Given the description of an element on the screen output the (x, y) to click on. 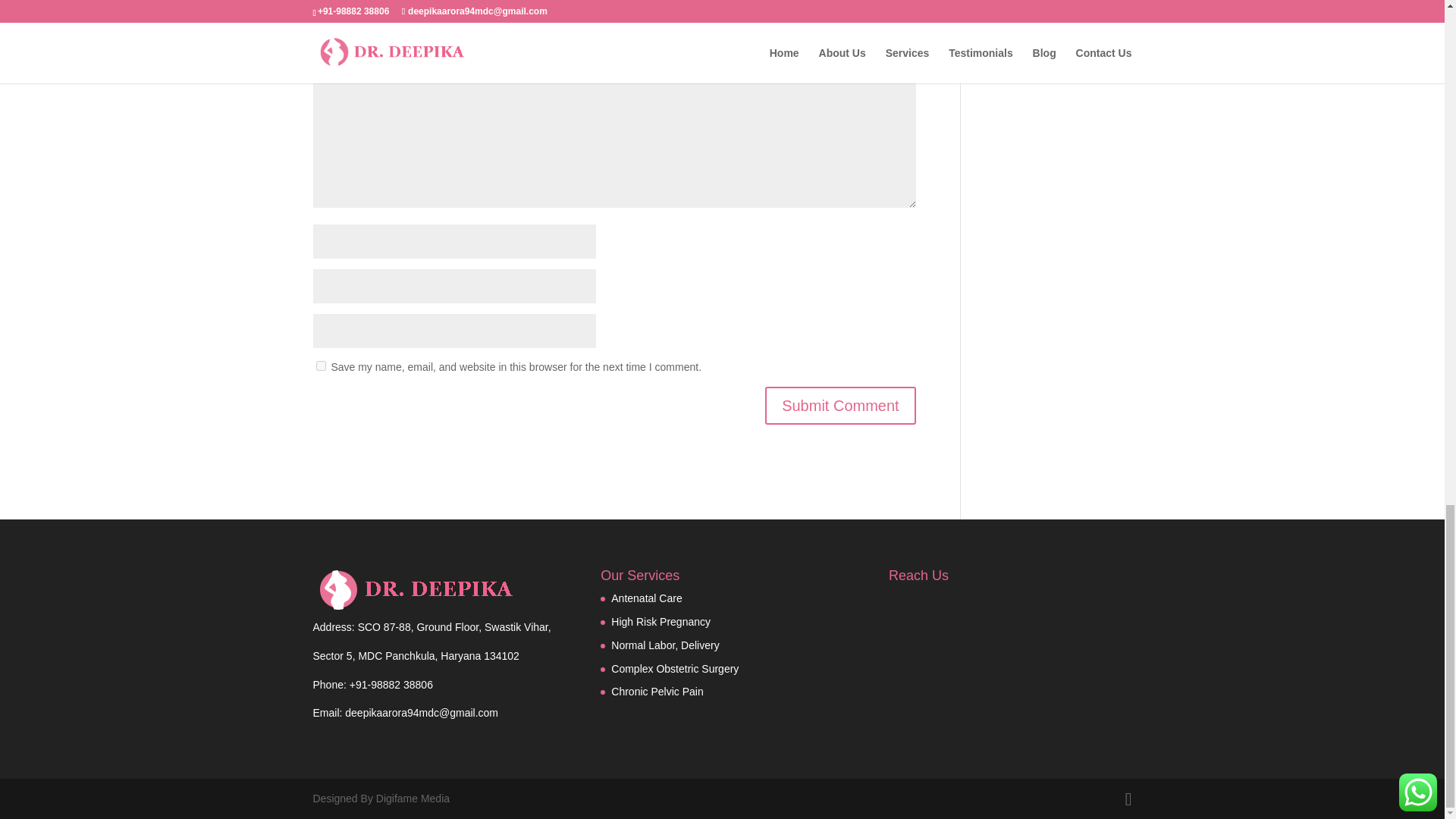
yes (319, 366)
Submit Comment (840, 405)
Submit Comment (840, 405)
Normal Labor, Delivery (665, 645)
Complex Obstetric Surgery (674, 668)
High Risk Pregnancy (660, 621)
Antenatal Care (646, 598)
Chronic Pelvic Pain (657, 691)
